Given the description of an element on the screen output the (x, y) to click on. 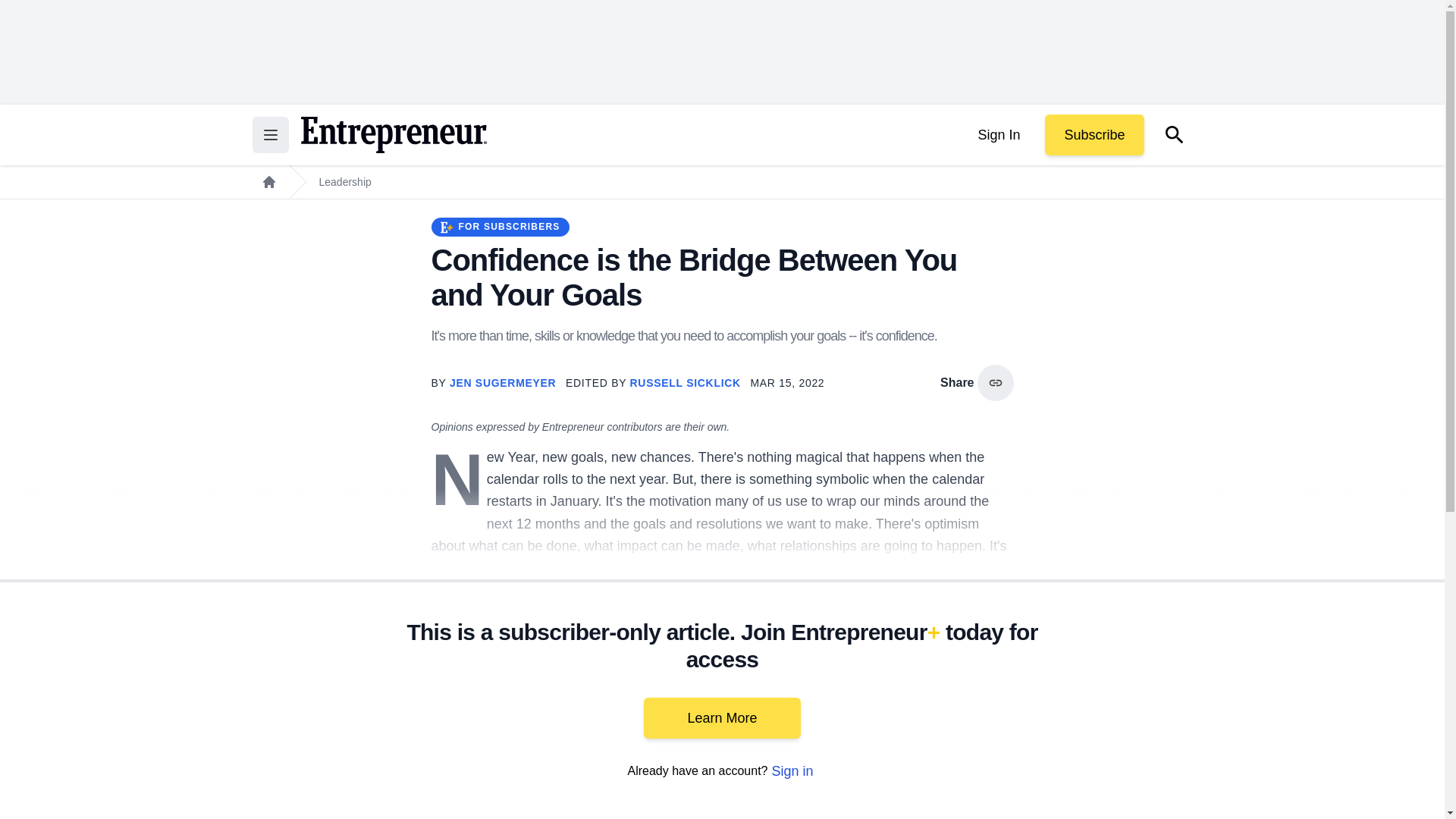
copy (994, 382)
Return to the home page (392, 135)
Subscribe (1093, 134)
Sign In (998, 134)
